Given the description of an element on the screen output the (x, y) to click on. 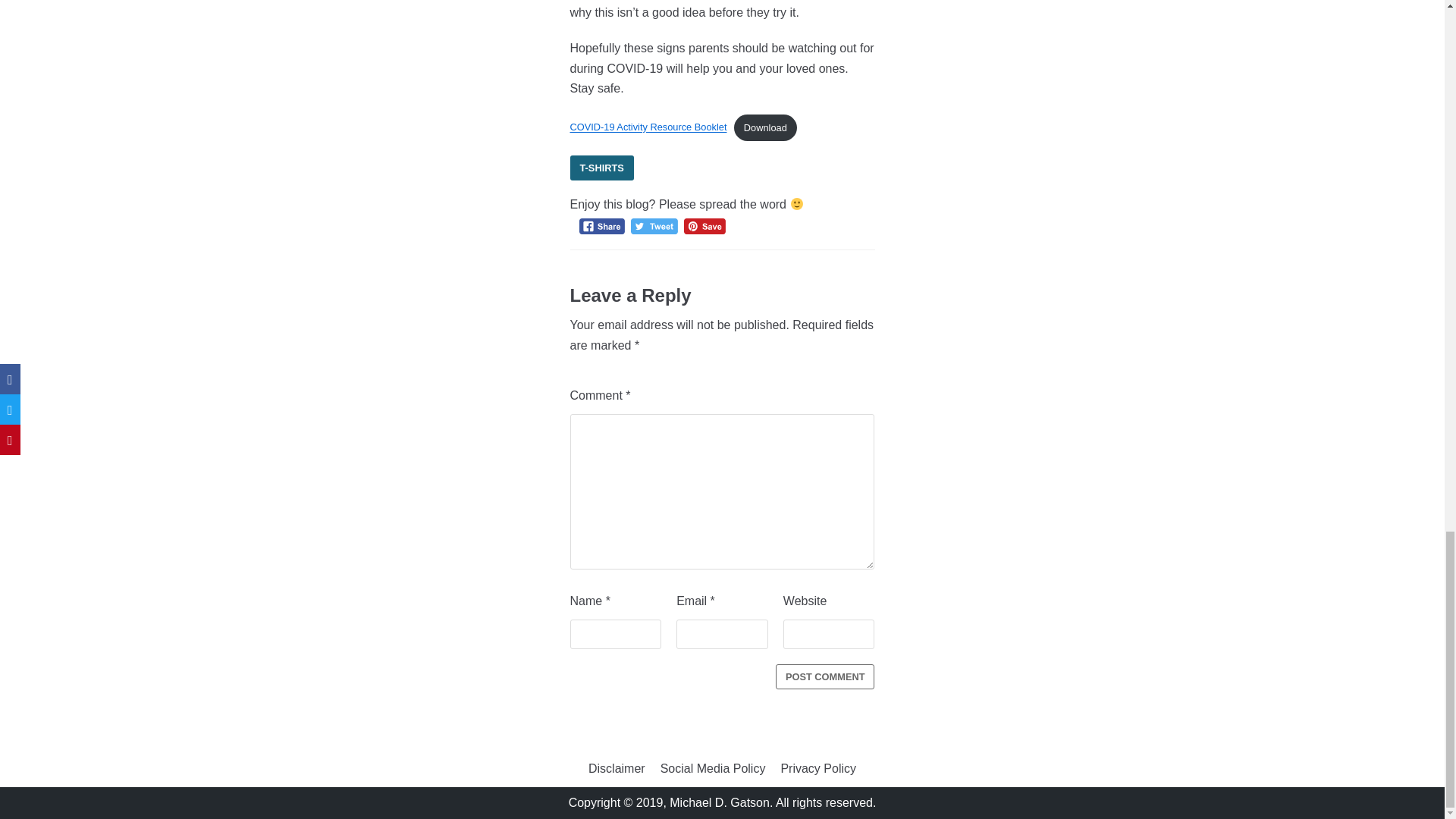
T-SHIRTS (601, 167)
Pin Share (704, 226)
Social Media Policy (713, 768)
Facebook Share (602, 226)
Post Comment (825, 676)
Post Comment (825, 676)
COVID-19 Activity Resource Booklet (648, 127)
Disclaimer (616, 768)
Privacy Policy (818, 768)
Download (764, 127)
